Given the description of an element on the screen output the (x, y) to click on. 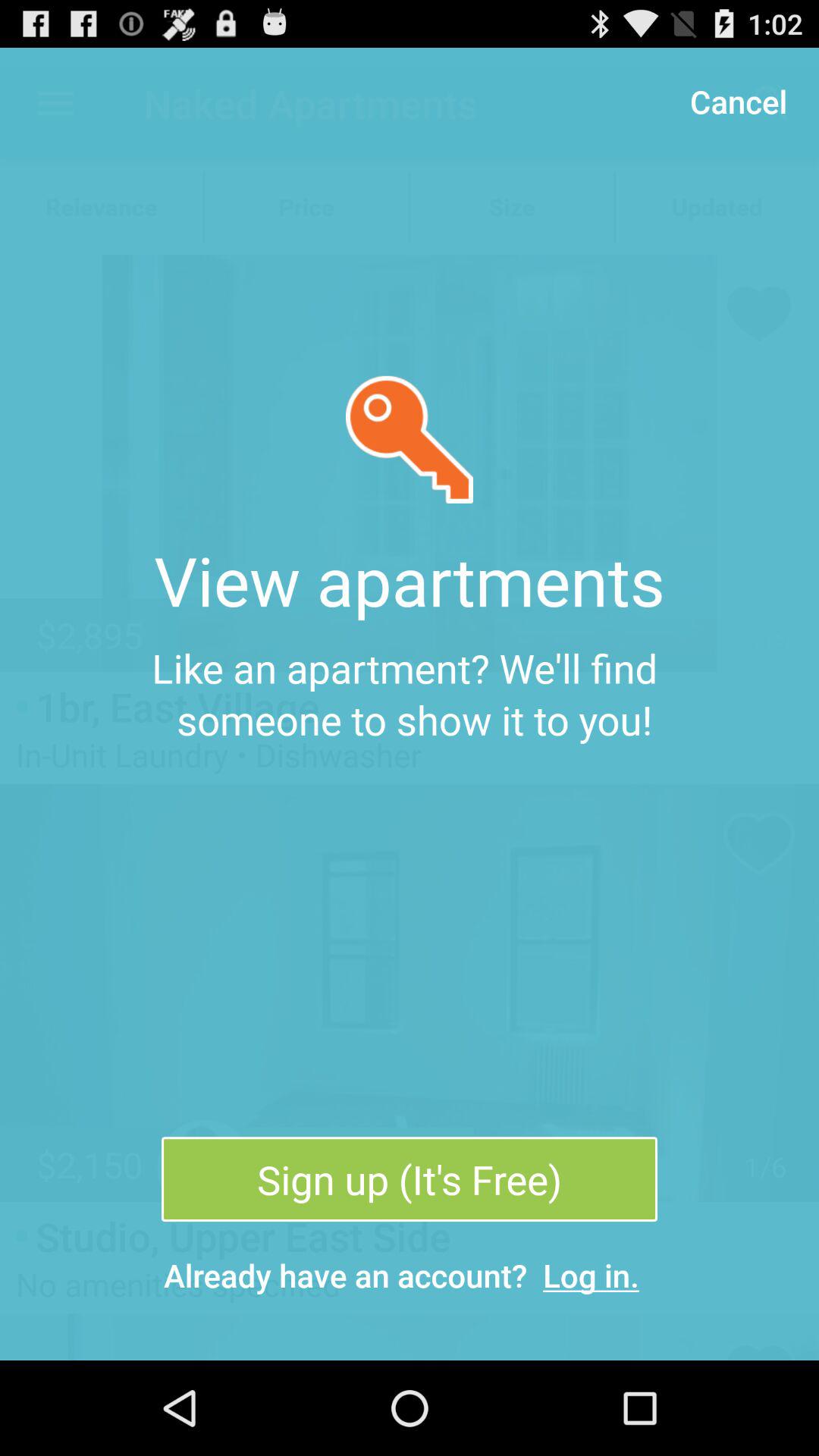
click icon at the bottom right corner (591, 1274)
